Given the description of an element on the screen output the (x, y) to click on. 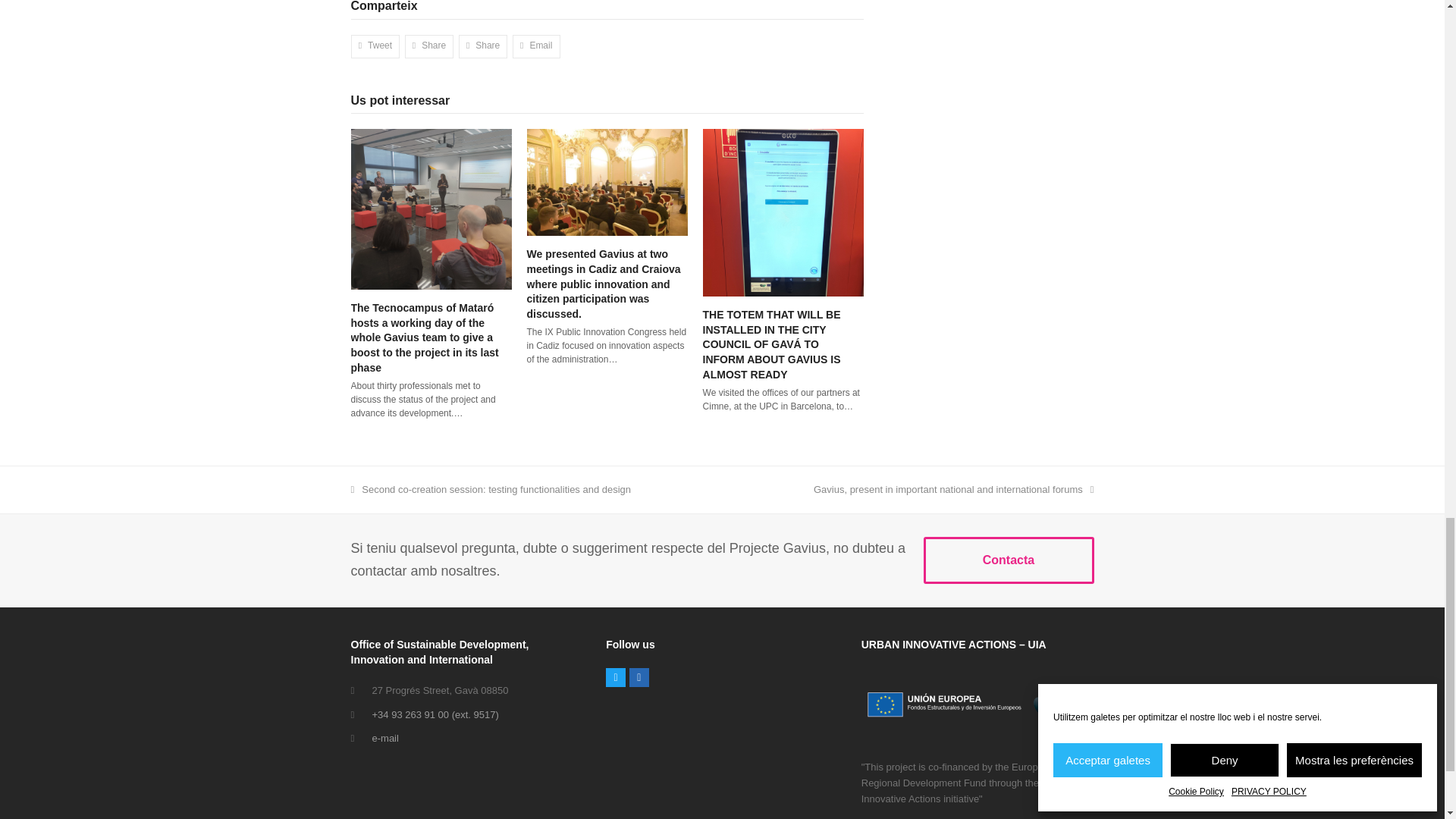
LinkedIn (638, 677)
Twitter (615, 677)
